Given the description of an element on the screen output the (x, y) to click on. 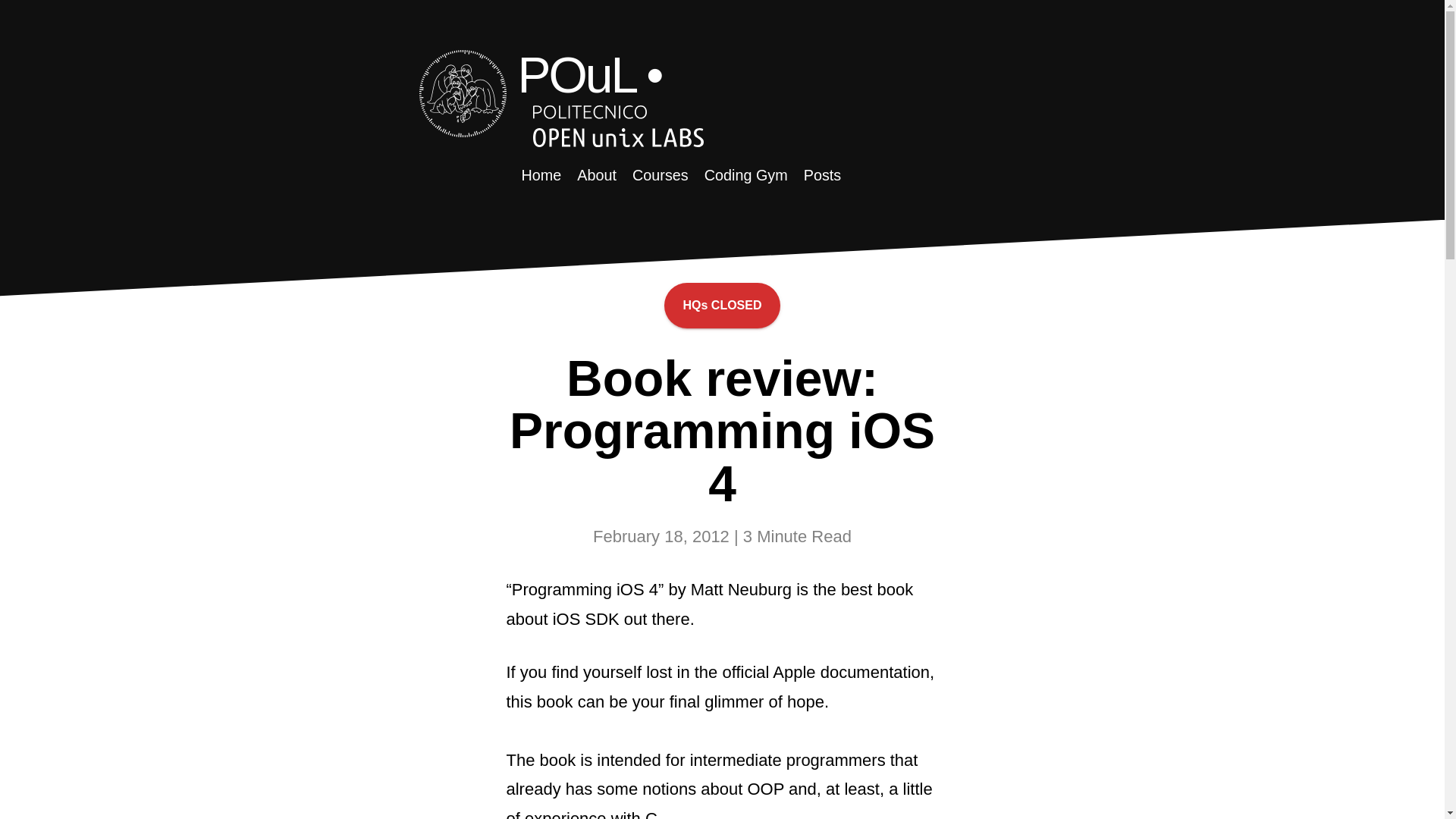
POuL (574, 74)
POuL headquarters status (720, 305)
Courses (658, 174)
Coding Gym (743, 174)
